Given the description of an element on the screen output the (x, y) to click on. 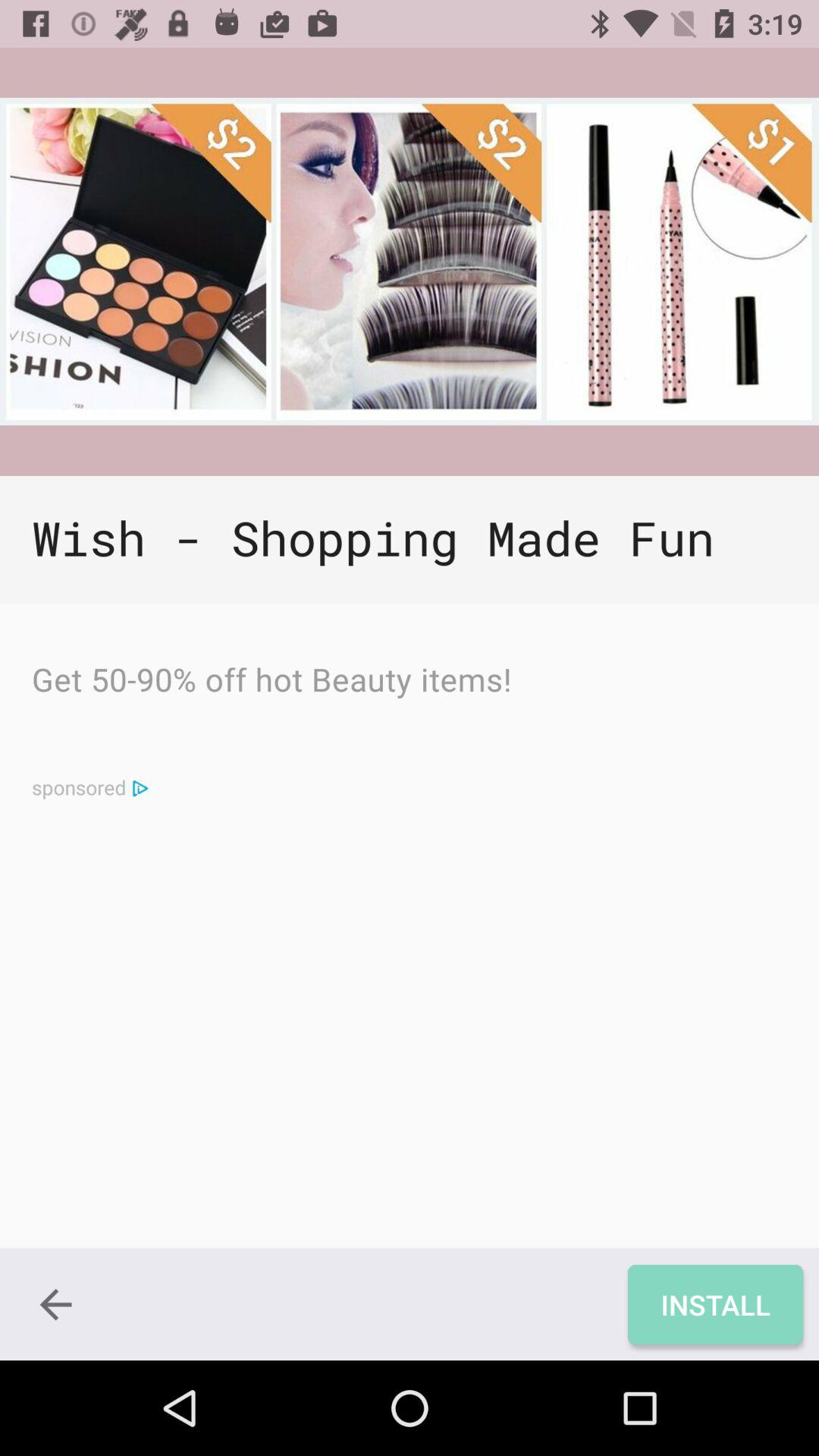
select icon next to the sponsored (140, 787)
